Given the description of an element on the screen output the (x, y) to click on. 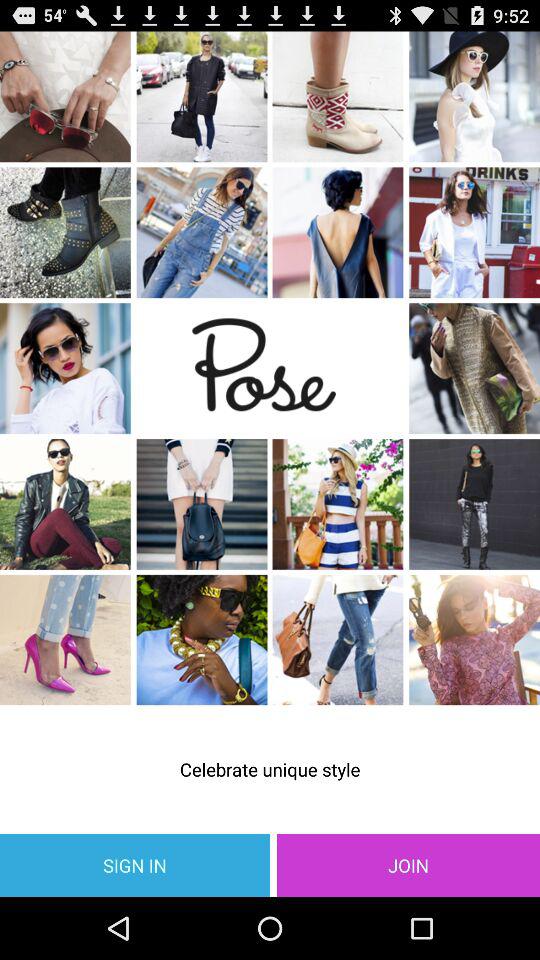
click sign in button (135, 864)
